Given the description of an element on the screen output the (x, y) to click on. 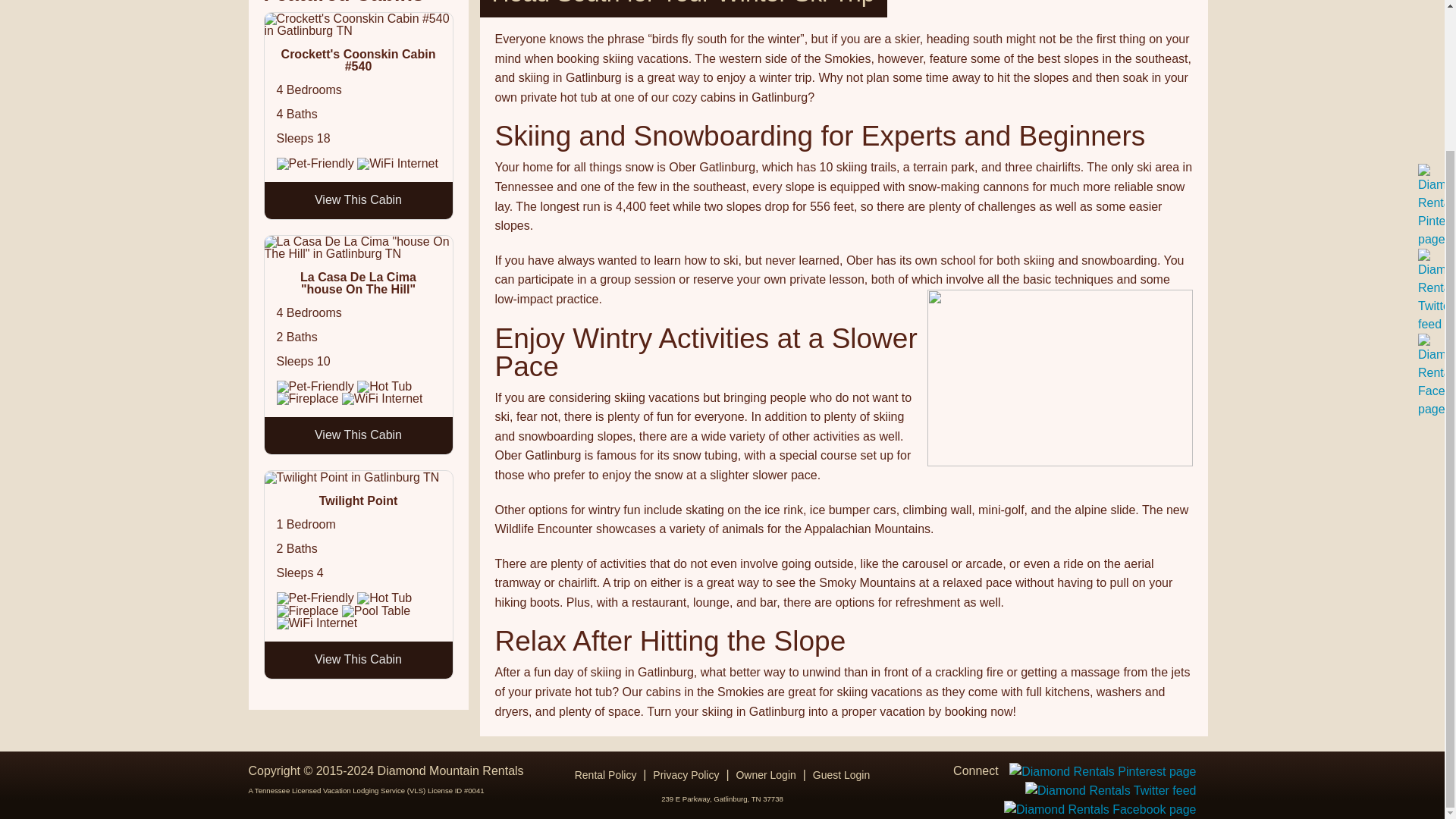
WiFi Internet (397, 163)
Fireplace (306, 611)
WiFi Internet (316, 623)
Brookside Resort Cabins (701, 152)
Gatlinburg Cabins (999, 177)
Chambers of Commerce (999, 31)
Cabins with Pool Access (701, 201)
Diamond Mountain Rentals Reviews (701, 128)
One Bedroom Cabins in Gatlinburg (701, 9)
Pet-Friendly (314, 163)
Wildlife Resources (999, 9)
Three Bedroom Cabins (701, 55)
Demographics (999, 55)
Great Smoky Mountains National Park (999, 152)
Plan Your Visit to the Smokies (999, 104)
